Given the description of an element on the screen output the (x, y) to click on. 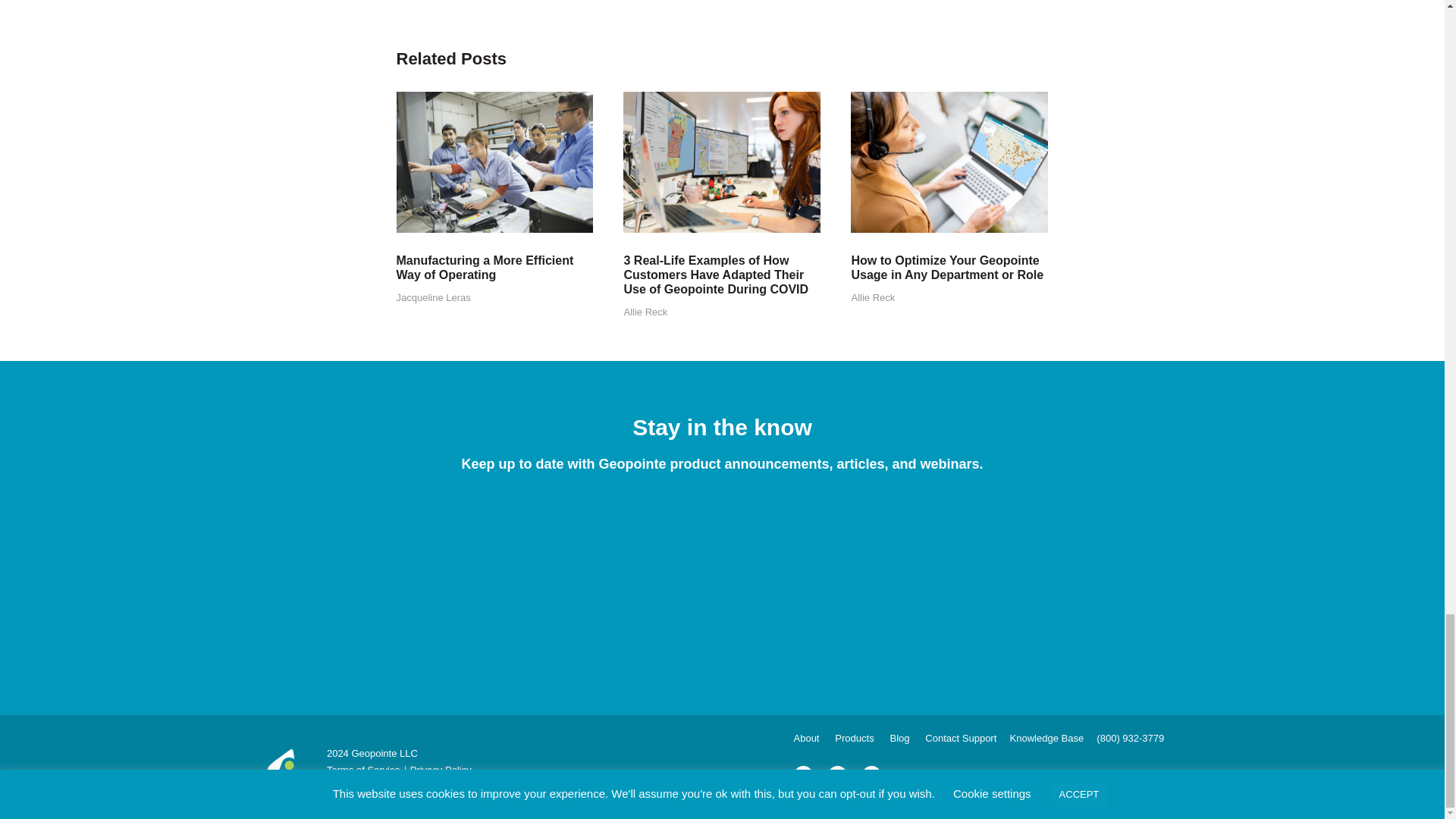
Workers meeting in manufacturing plant (494, 161)
Posts by Jacqueline Leras (433, 297)
Posts by Allie Reck (644, 311)
Blueprints-How-To-Use-GP-by-Dept.-Sized-Down (949, 161)
Join our Mailing List - Email Only (722, 582)
Posts by Allie Reck (872, 297)
Geopointe geoanalytics territory management data aggregation (722, 161)
